Given the description of an element on the screen output the (x, y) to click on. 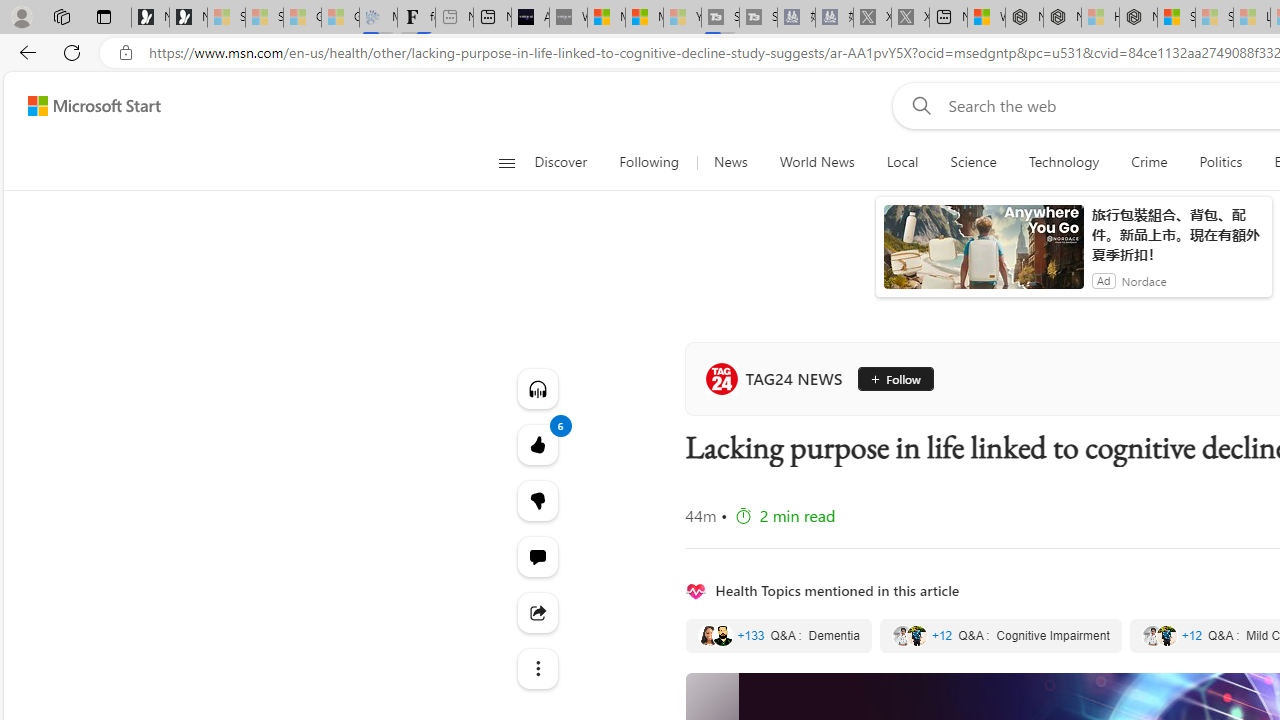
Local (902, 162)
World News (816, 162)
6 Like (537, 444)
